Given the description of an element on the screen output the (x, y) to click on. 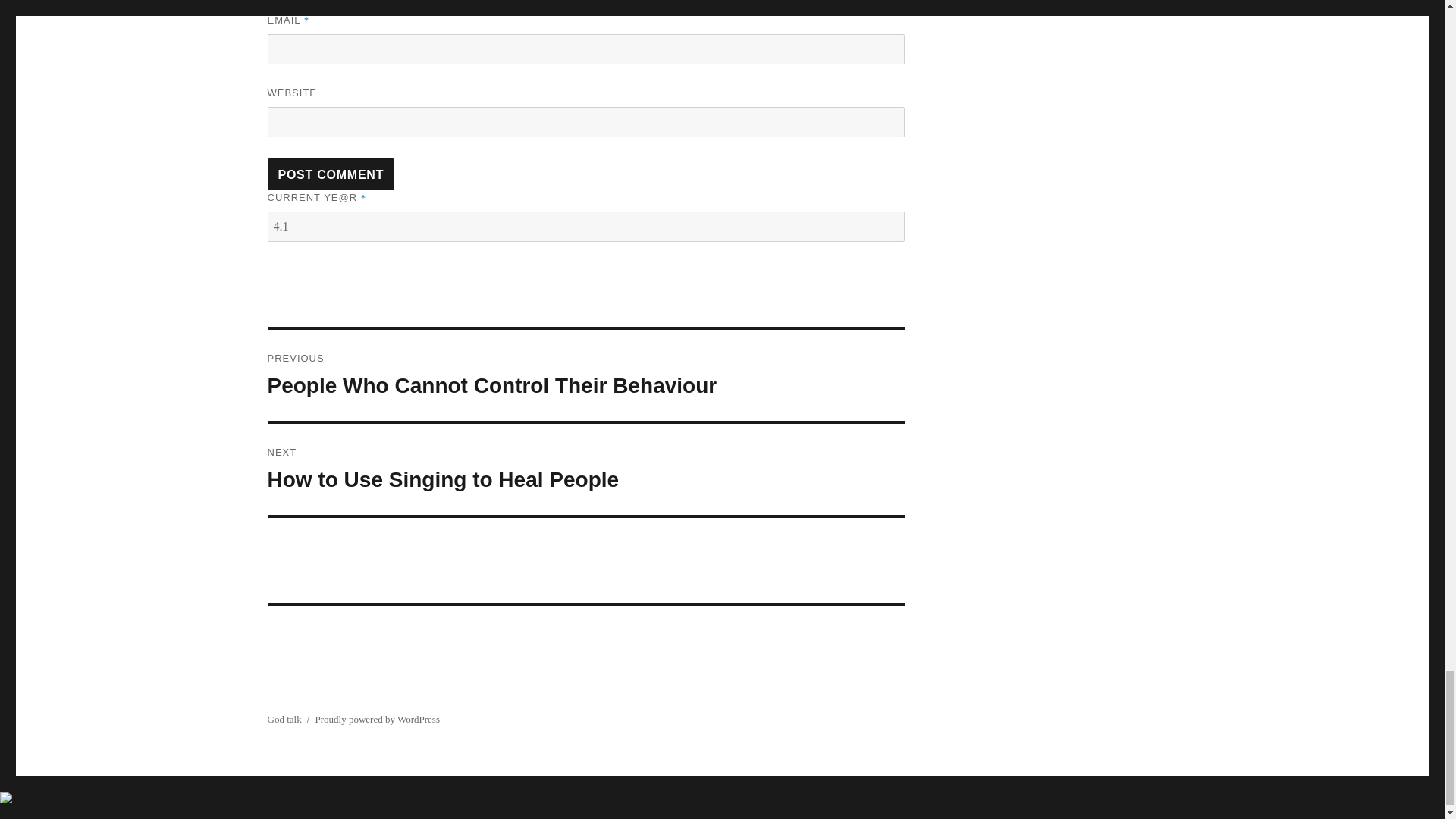
God talk (283, 718)
Proudly powered by WordPress (377, 718)
4.1 (585, 226)
Post Comment (330, 174)
Post Comment (330, 174)
